Given the description of an element on the screen output the (x, y) to click on. 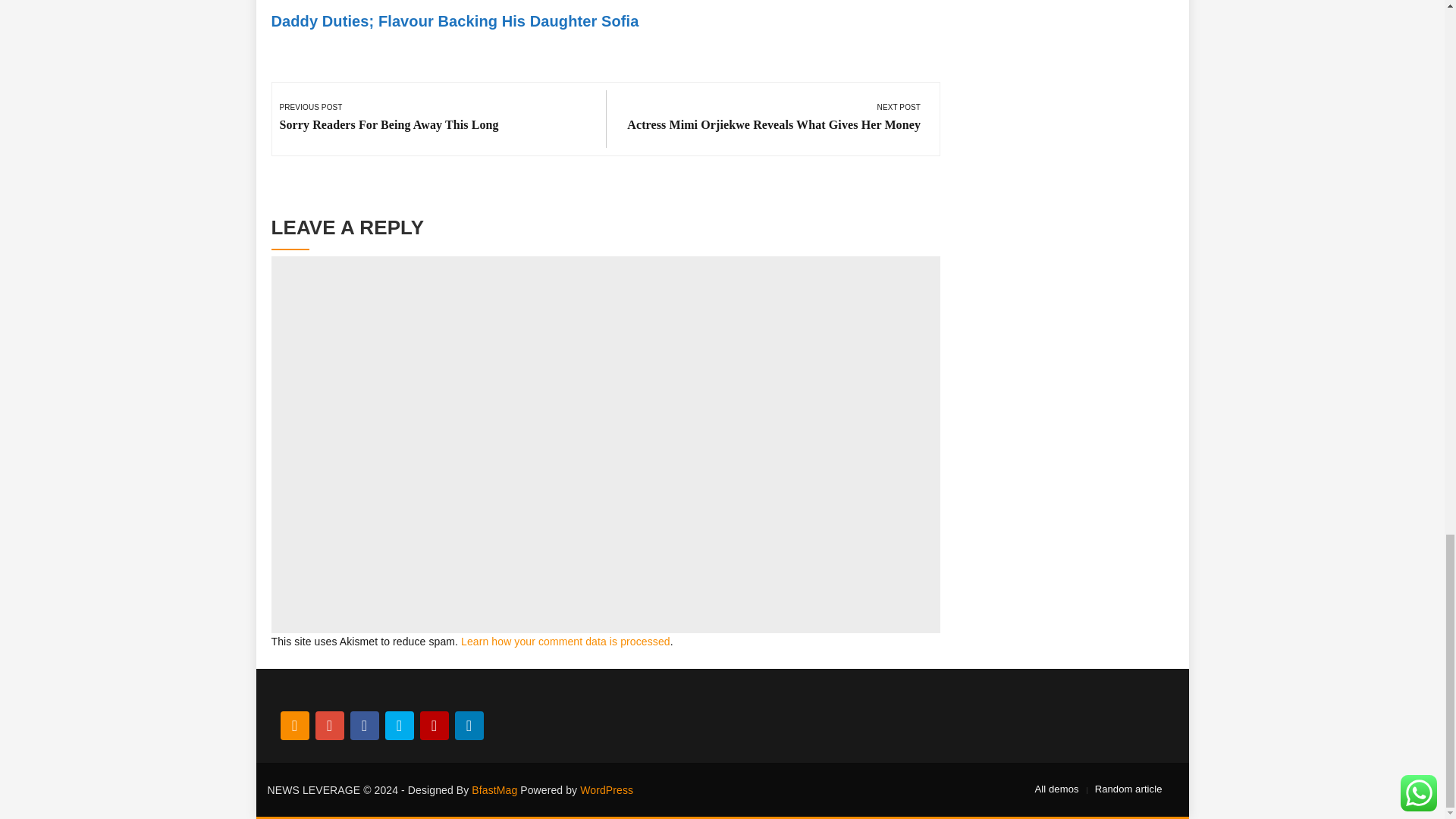
RSS Feed (294, 725)
Facebook (364, 725)
YouTube (434, 725)
Twitter (399, 725)
